Given the description of an element on the screen output the (x, y) to click on. 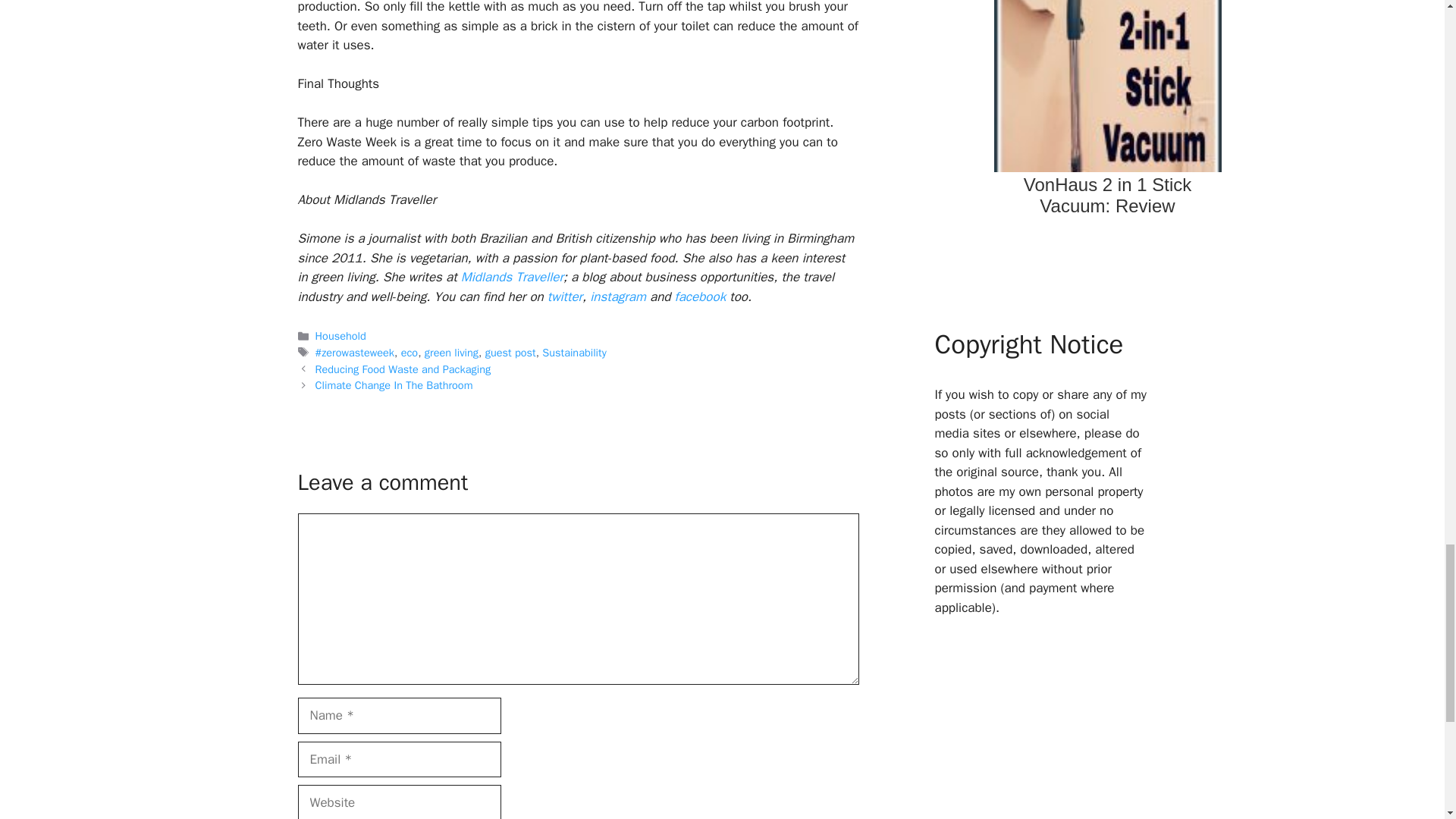
Household (340, 336)
Climate Change In The Bathroom (394, 385)
facebook (700, 296)
twitter (564, 296)
eco (410, 352)
Midlands Traveller (512, 277)
Reducing Food Waste and Packaging (403, 368)
green living (452, 352)
instagram (617, 296)
VonHaus 2 in 1 Stick Vacuum: Review (1106, 116)
guest post (509, 352)
Sustainability (573, 352)
